Given the description of an element on the screen output the (x, y) to click on. 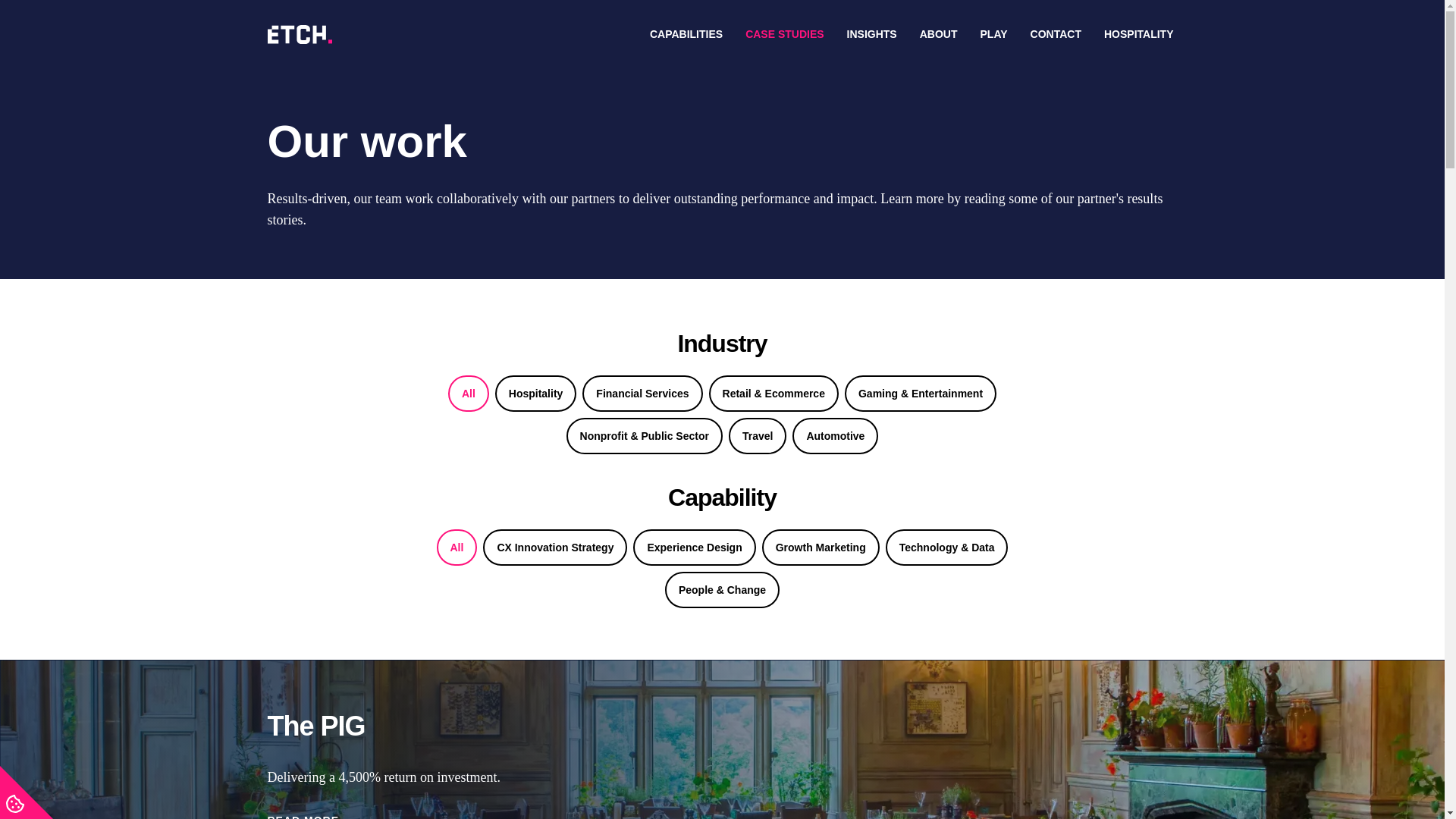
PLAY (993, 33)
View financial-services posts (641, 393)
Financial Services (641, 393)
CX Innovation Strategy (555, 547)
All (456, 547)
CAPABILITIES (686, 33)
Growth Marketing (820, 547)
All (468, 393)
CONTACT (1055, 33)
View automotive posts (834, 435)
Experience Design (694, 547)
View all (456, 547)
Automotive (834, 435)
ABOUT (937, 33)
View gaming-entertainment posts (919, 393)
